Given the description of an element on the screen output the (x, y) to click on. 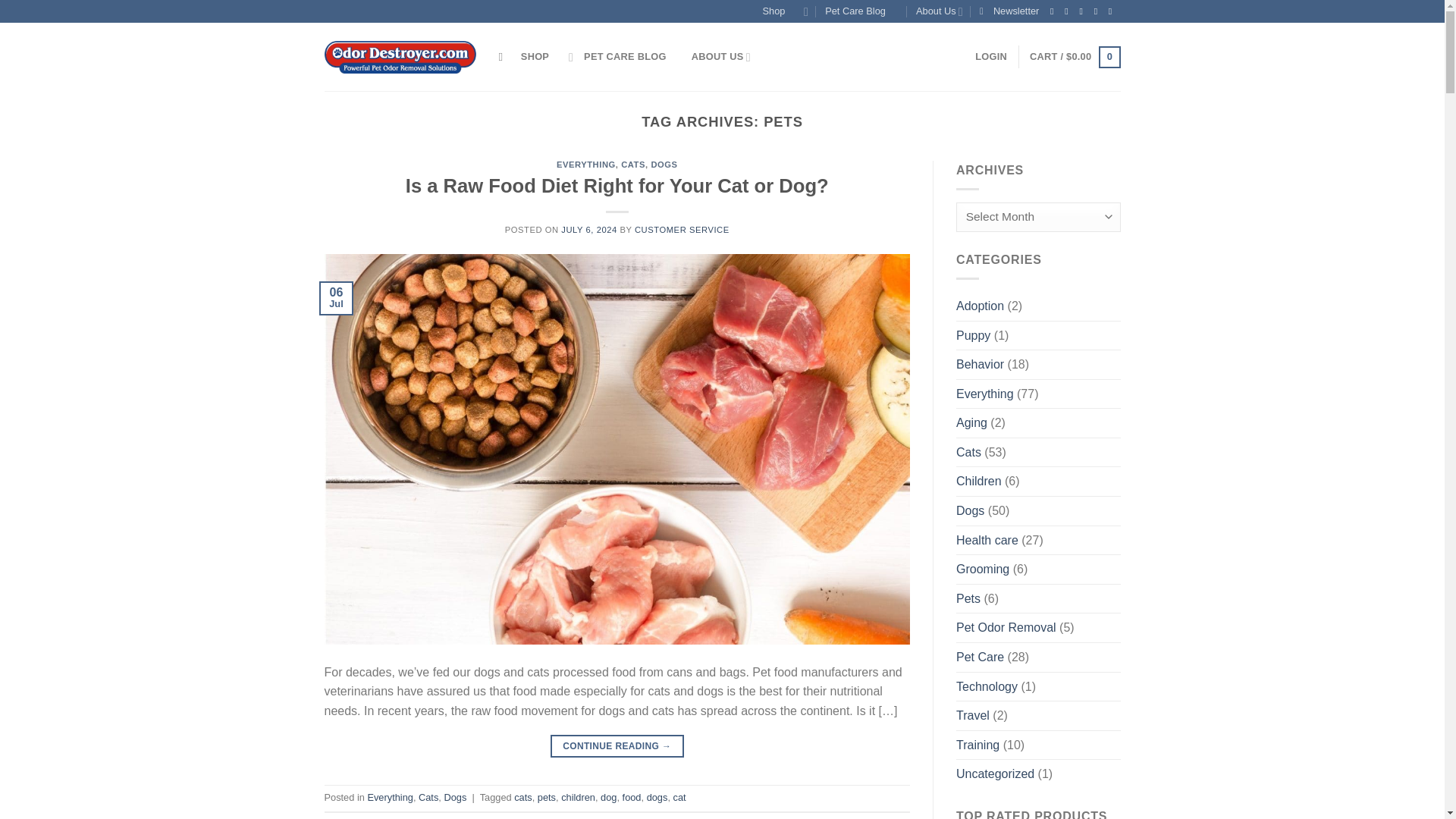
OdorDestroyer.com - Powerful pet odor removal solutions (400, 56)
Follow on YouTube (1113, 10)
Login (991, 56)
ABOUT US (721, 56)
Shop       (785, 11)
Pet Care Blog      (861, 11)
Follow on Facebook (1054, 10)
SHOP       (547, 56)
About Us (938, 11)
LOGIN (991, 56)
Newsletter (1009, 11)
PET CARE BLOG      (632, 56)
Follow on Twitter (1082, 10)
Follow on Instagram (1069, 10)
Sign up for Newsletter (1009, 11)
